Given the description of an element on the screen output the (x, y) to click on. 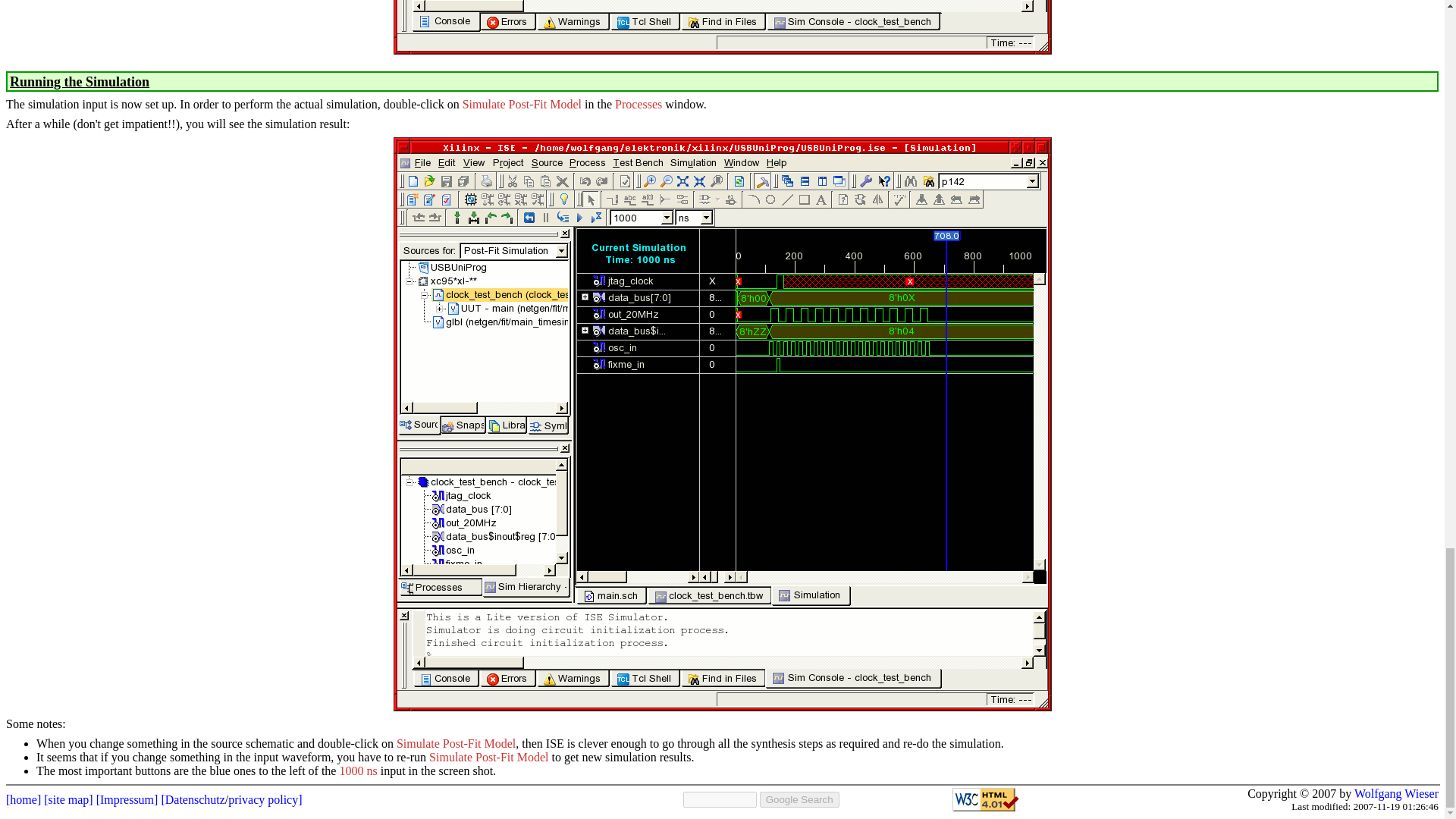
Google Search (800, 799)
Google Search (800, 799)
Wolfgang Wieser (1396, 793)
